Given the description of an element on the screen output the (x, y) to click on. 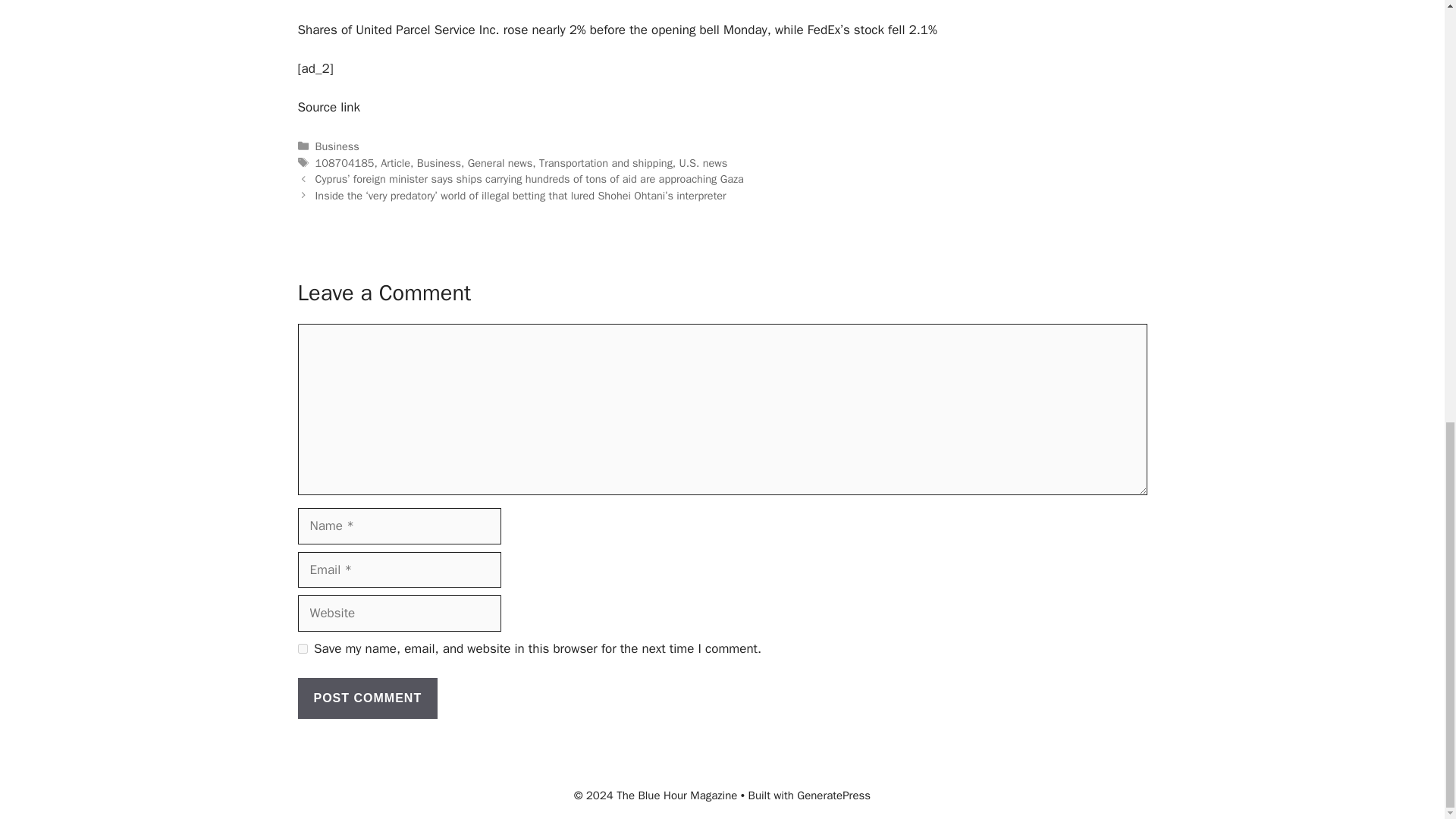
Post Comment (367, 698)
Business (438, 162)
GeneratePress (833, 795)
Source link (328, 107)
108704185 (344, 162)
Transportation and shipping (605, 162)
U.S. news (703, 162)
Article (395, 162)
General news (499, 162)
Scroll back to top (1406, 665)
Post Comment (367, 698)
yes (302, 648)
Business (337, 146)
